Given the description of an element on the screen output the (x, y) to click on. 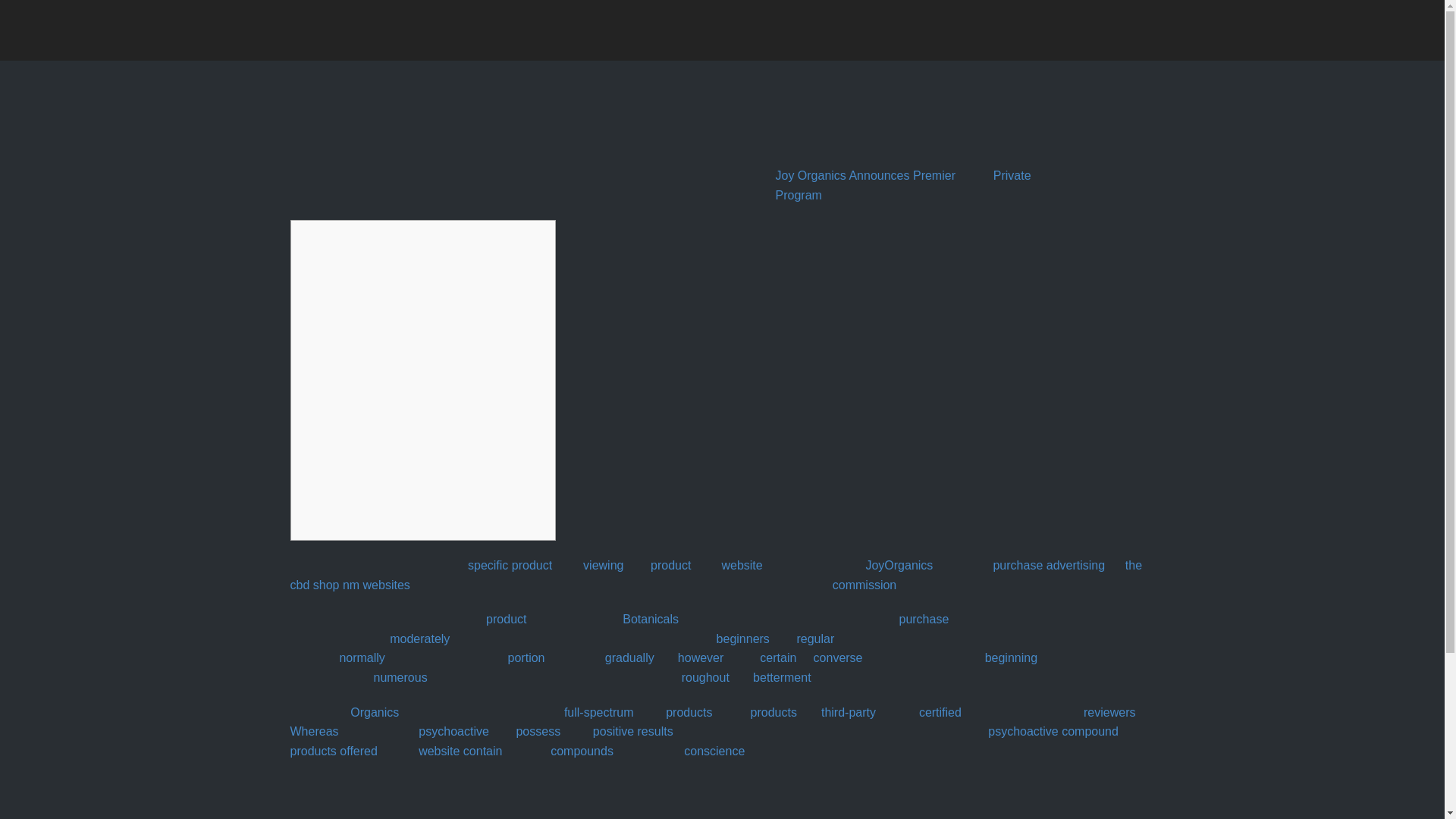
viewing (603, 564)
Joy Organics (809, 174)
Uncategorized (424, 133)
advertising (1075, 564)
Premier (933, 174)
purchase (1017, 564)
JoyOrganics (898, 564)
Program (797, 195)
product (670, 564)
specific (487, 564)
Announces (878, 174)
Private (1011, 174)
website (740, 564)
product (531, 564)
